Given the description of an element on the screen output the (x, y) to click on. 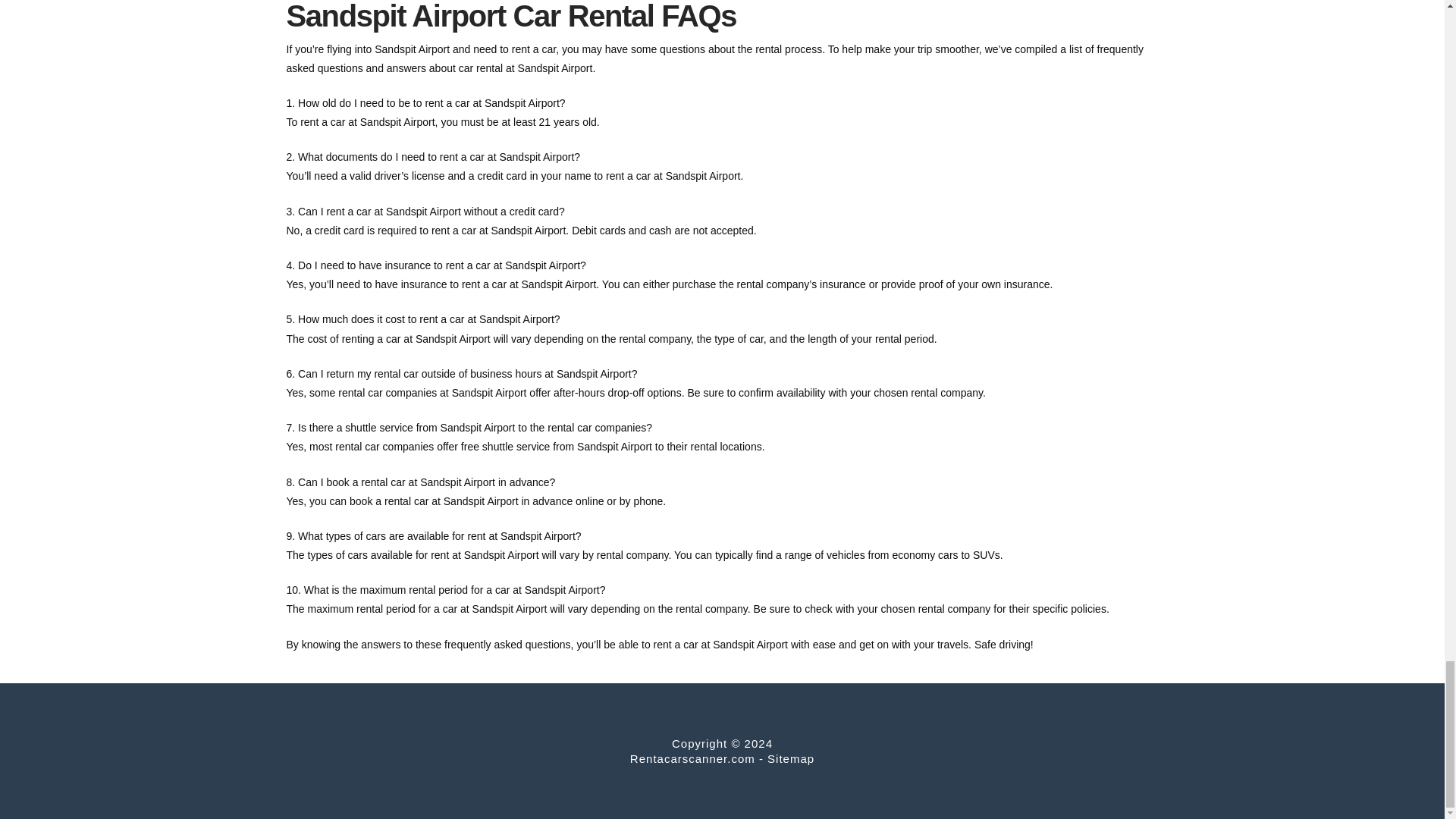
HTML SItemap (790, 758)
